Given the description of an element on the screen output the (x, y) to click on. 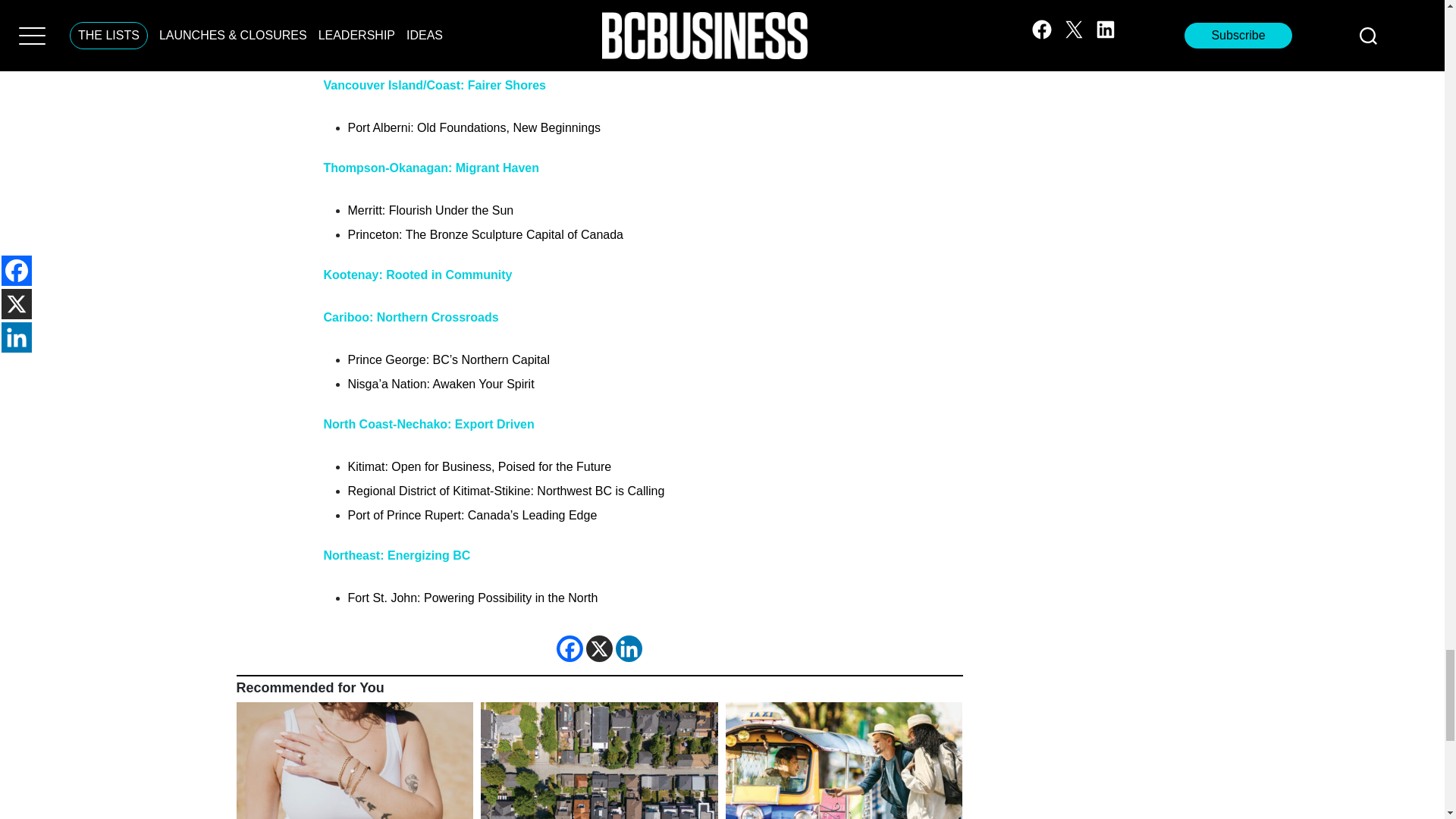
X (599, 648)
Linkedin (628, 648)
Facebook (569, 648)
